Given the description of an element on the screen output the (x, y) to click on. 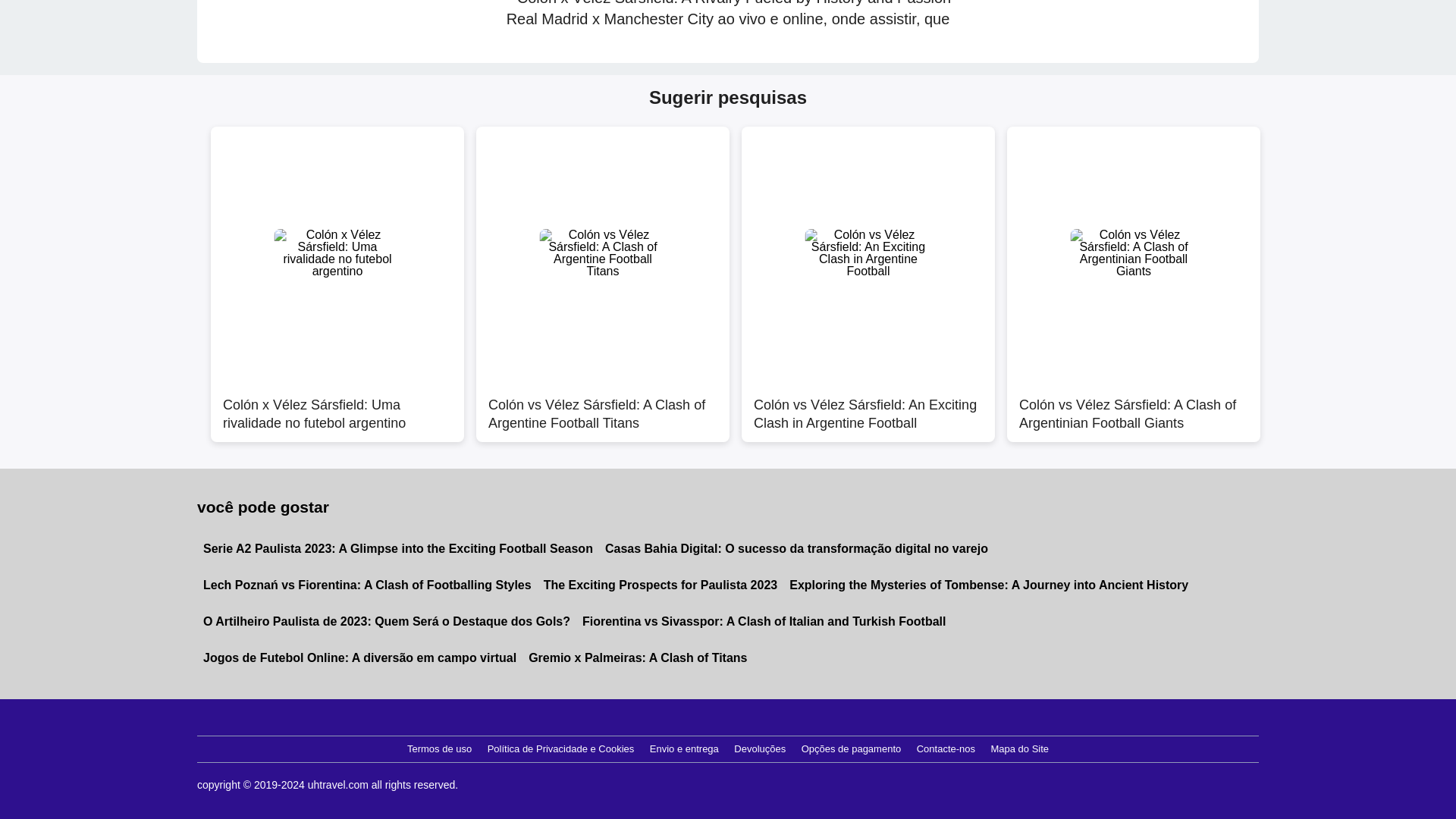
Contacte-nos (946, 749)
Gremio x Palmeiras: A Clash of Titans (637, 657)
Termos de uso (439, 749)
The Exciting Prospects for Paulista 2023 (660, 585)
Mapa do Site (1019, 749)
Envio e entrega (684, 749)
